Given the description of an element on the screen output the (x, y) to click on. 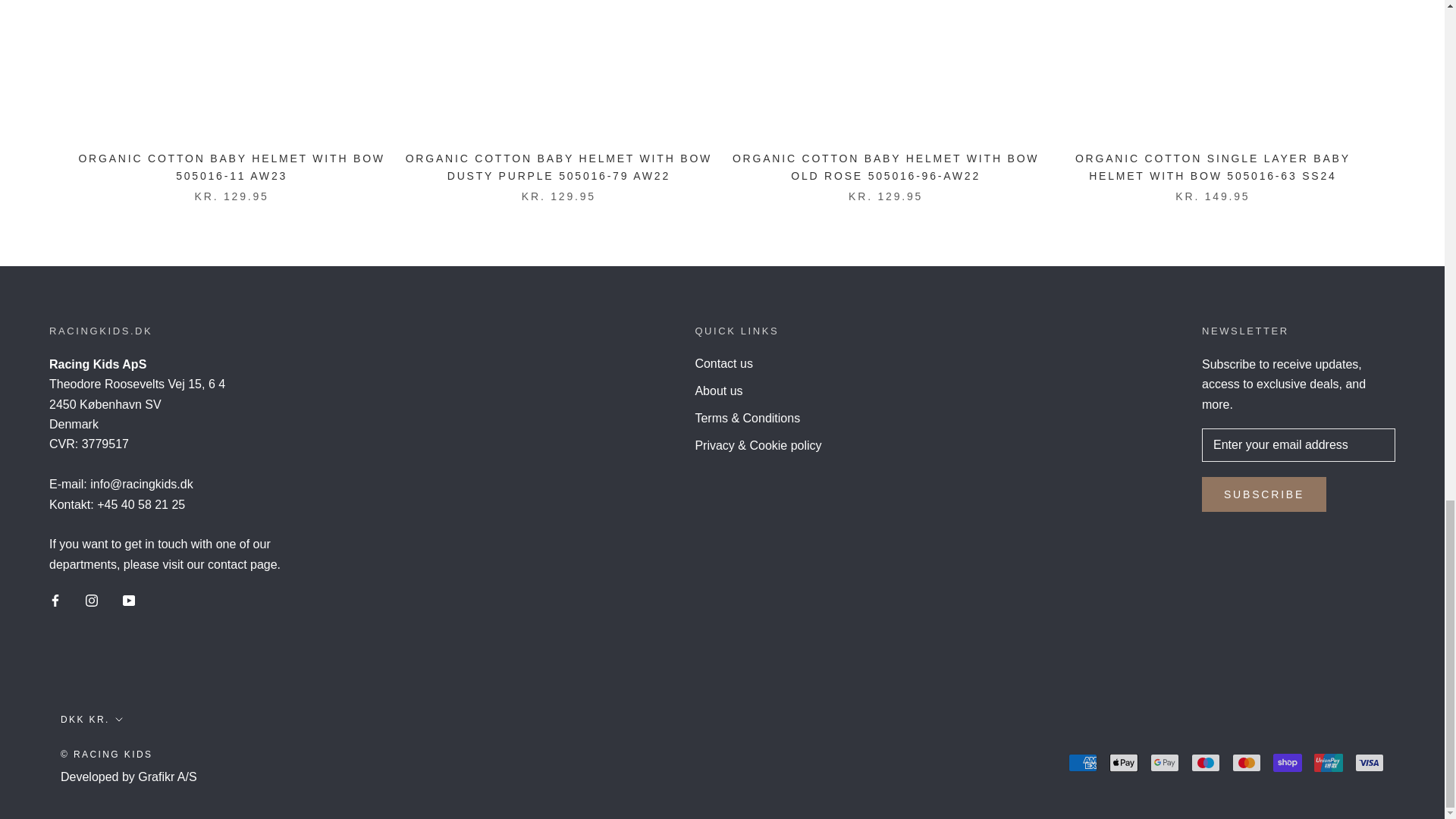
Mastercard (1245, 762)
Maestro (1205, 762)
Visa (1369, 762)
Apple Pay (1123, 762)
Union Pay (1328, 762)
Shop Pay (1286, 762)
American Express (1082, 762)
Google Pay (1164, 762)
